Given the description of an element on the screen output the (x, y) to click on. 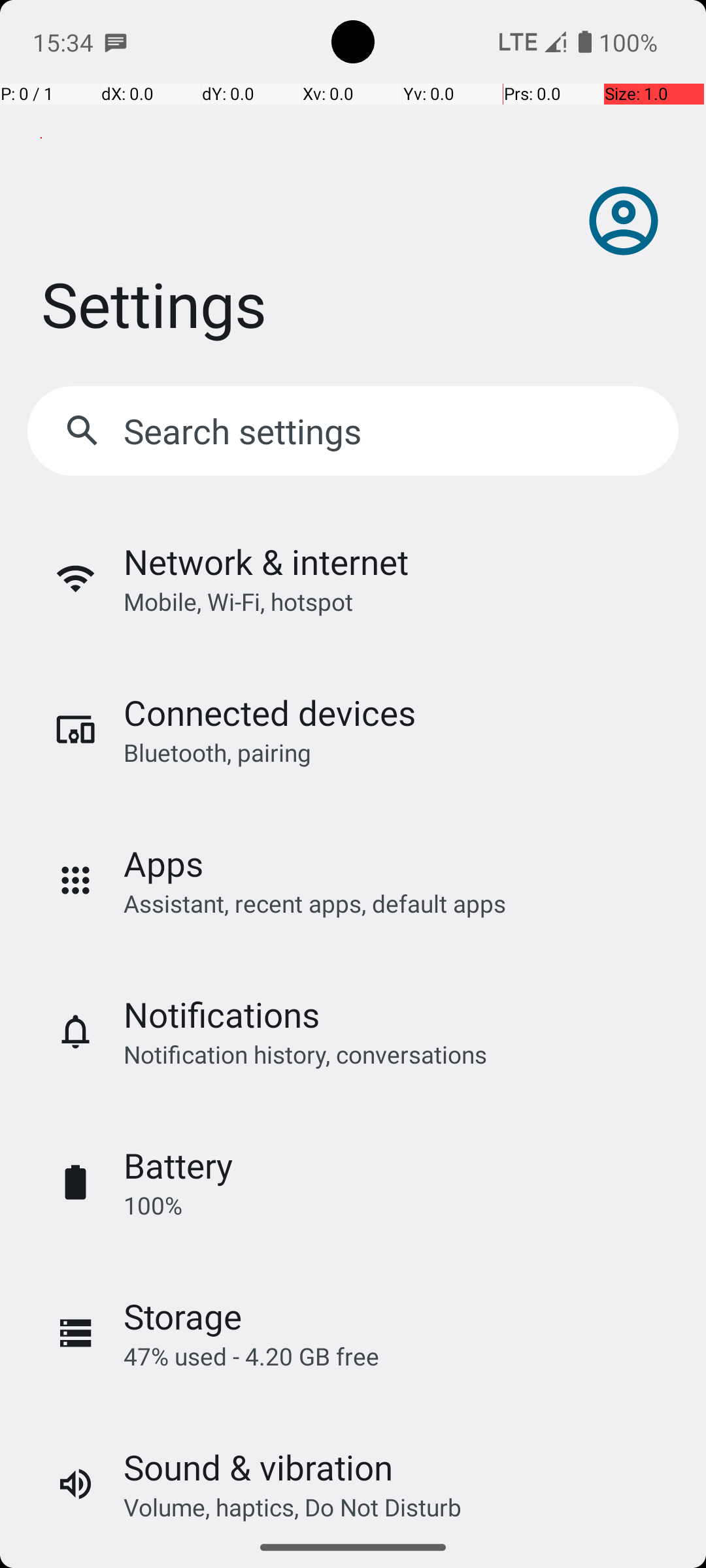
47% used - 4.20 GB free Element type: android.widget.TextView (251, 1355)
